Given the description of an element on the screen output the (x, y) to click on. 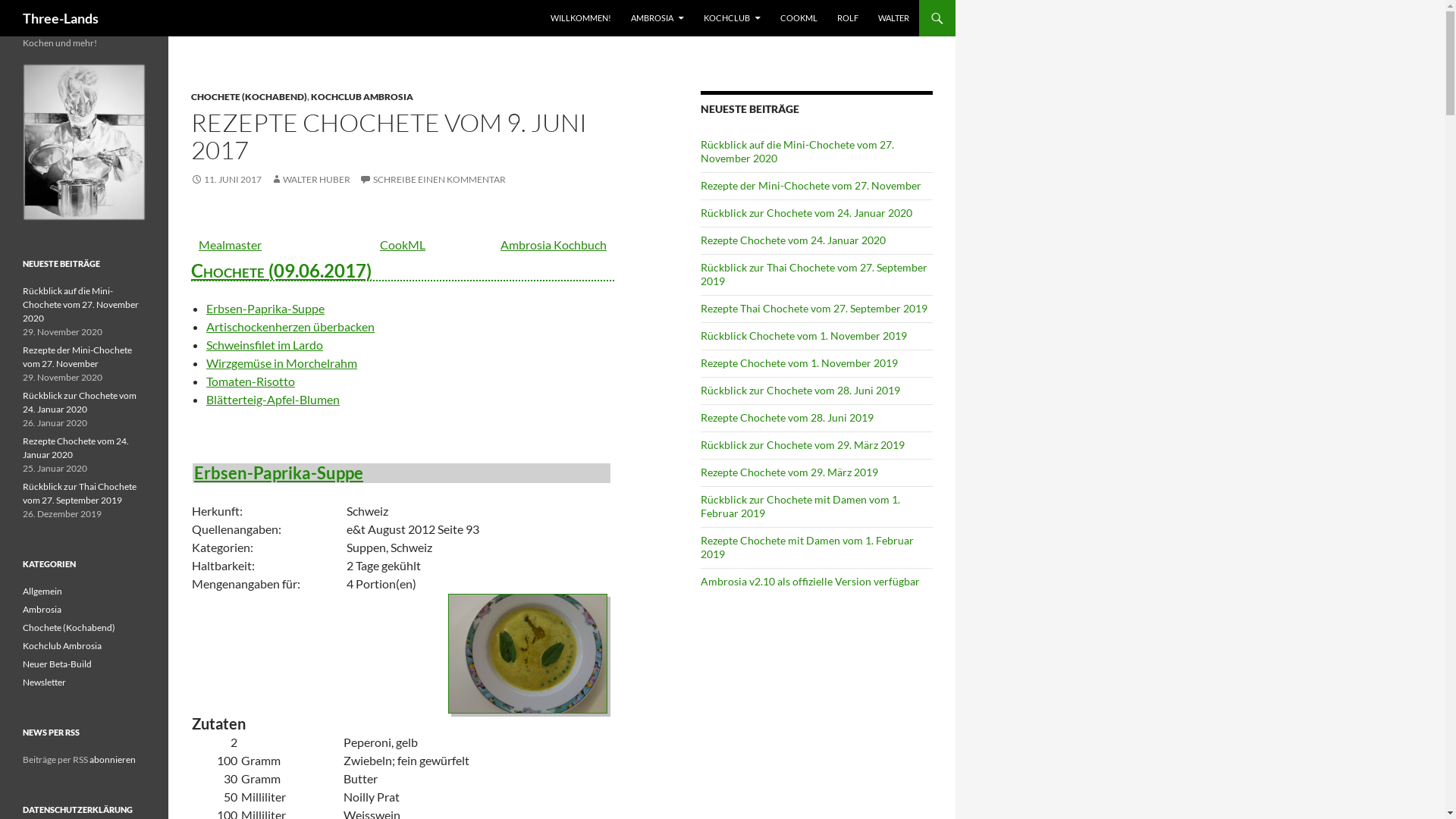
Rezepte Chochete vom 28. Juni 2019 Element type: text (786, 417)
Rezepte Chochete vom 1. November 2019 Element type: text (798, 362)
Schweinsfilet im Lardo Element type: text (264, 344)
Tomaten-Risotto Element type: text (250, 380)
Chochete (09.06.2017) Element type: text (402, 254)
Rezepte Thai Chochete vom 27. September 2019 Element type: text (813, 307)
COOKML Element type: text (798, 18)
CHOCHETE (KOCHABEND) Element type: text (249, 96)
SCHREIBE EINEN KOMMENTAR Element type: text (432, 179)
CookML Element type: text (402, 244)
11. JUNI 2017 Element type: text (226, 179)
Erbsen-Paprika-Suppe Element type: text (398, 473)
Mealmaster Element type: text (229, 244)
Rezepte Chochete vom 24. Januar 2020 Element type: text (792, 239)
Kochclub Ambrosia Element type: text (61, 645)
WILLKOMMEN! Element type: text (580, 18)
AMBROSIA Element type: text (657, 18)
Erbsen-Paprika-Suppe Element type: text (265, 308)
Rezepte der Mini-Chochete vom 27. November Element type: text (76, 356)
Ambrosia Logo Element type: hover (83, 141)
abonnieren Element type: text (112, 759)
Newsletter Element type: text (43, 681)
Rezepte Chochete mit Damen vom 1. Februar 2019 Element type: text (806, 546)
KOCHCLUB AMBROSIA Element type: text (361, 96)
Three-Lands Element type: text (60, 18)
Rezepte Chochete vom 24. Januar 2020 Element type: text (75, 447)
Rezepte der Mini-Chochete vom 27. November Element type: text (810, 184)
Allgemein Element type: text (42, 590)
Neuer Beta-Build Element type: text (56, 663)
WALTER Element type: text (893, 18)
Chochete (Kochabend) Element type: text (68, 627)
ROLF Element type: text (847, 18)
Ambrosia Element type: text (41, 609)
Ambrosia Kochbuch Element type: text (553, 244)
WALTER HUBER Element type: text (310, 179)
KOCHCLUB Element type: text (731, 18)
